Given the description of an element on the screen output the (x, y) to click on. 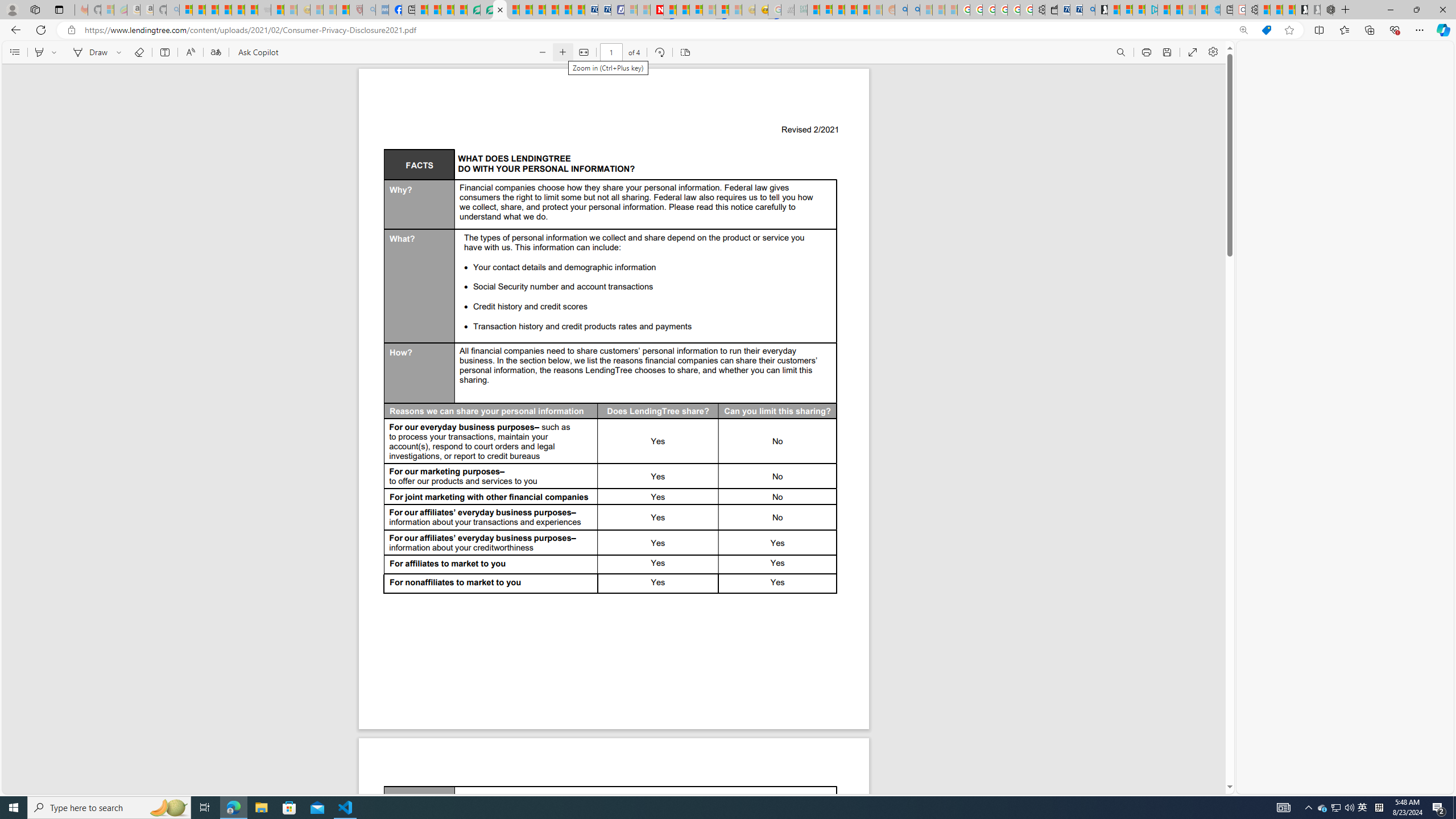
Print (Ctrl+P) (1146, 52)
Page number (611, 52)
Read aloud (189, 52)
The Weather Channel - MSN (212, 9)
Combat Siege - Sleeping (264, 9)
